Given the description of an element on the screen output the (x, y) to click on. 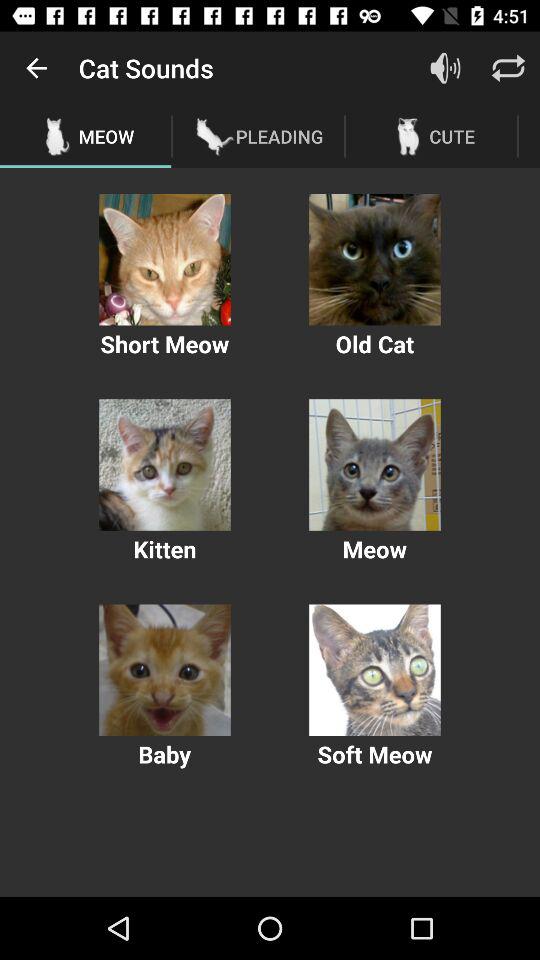
open image (374, 464)
